Given the description of an element on the screen output the (x, y) to click on. 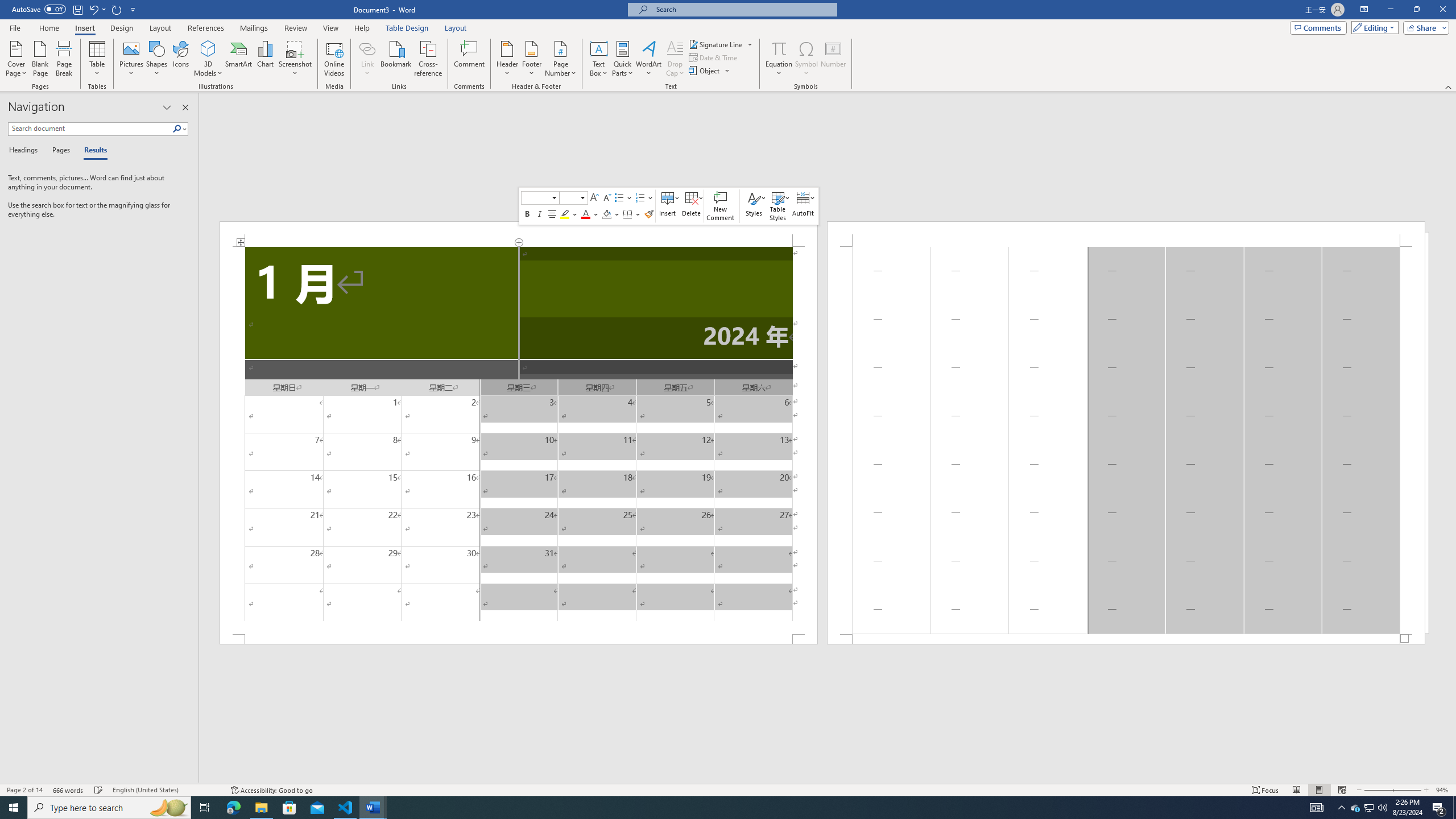
Class: NetUIScrollBar (827, 778)
Icons (180, 58)
3D Models (208, 48)
Cross-reference... (428, 58)
Comment (469, 58)
Italic (539, 214)
Undo Apply Quick Style (92, 9)
Number... (833, 58)
Page Number Page 2 of 14 (24, 790)
